Given the description of an element on the screen output the (x, y) to click on. 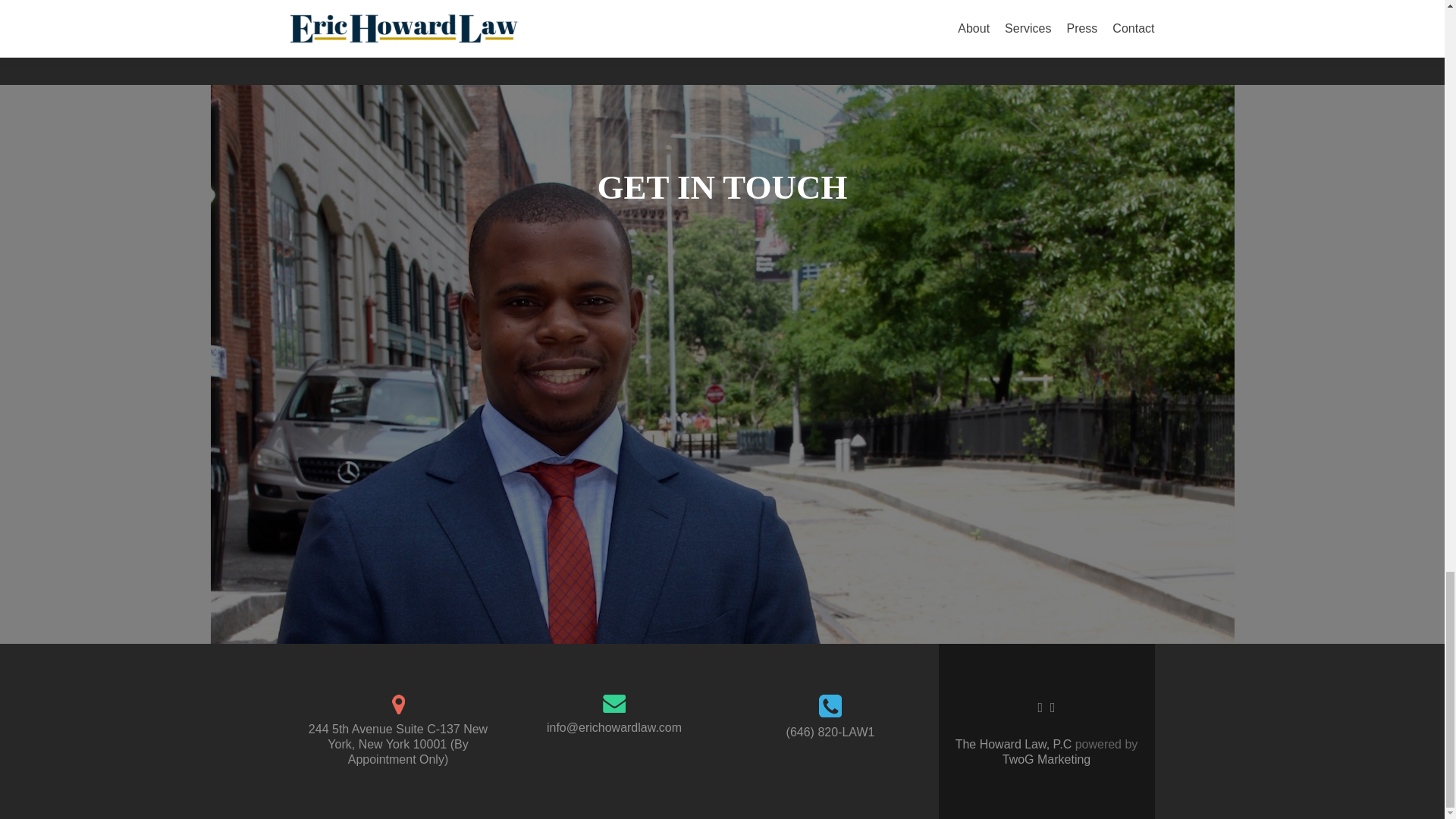
TwoG Marketing (1046, 758)
The Howard Law, P.C (1015, 744)
